Given the description of an element on the screen output the (x, y) to click on. 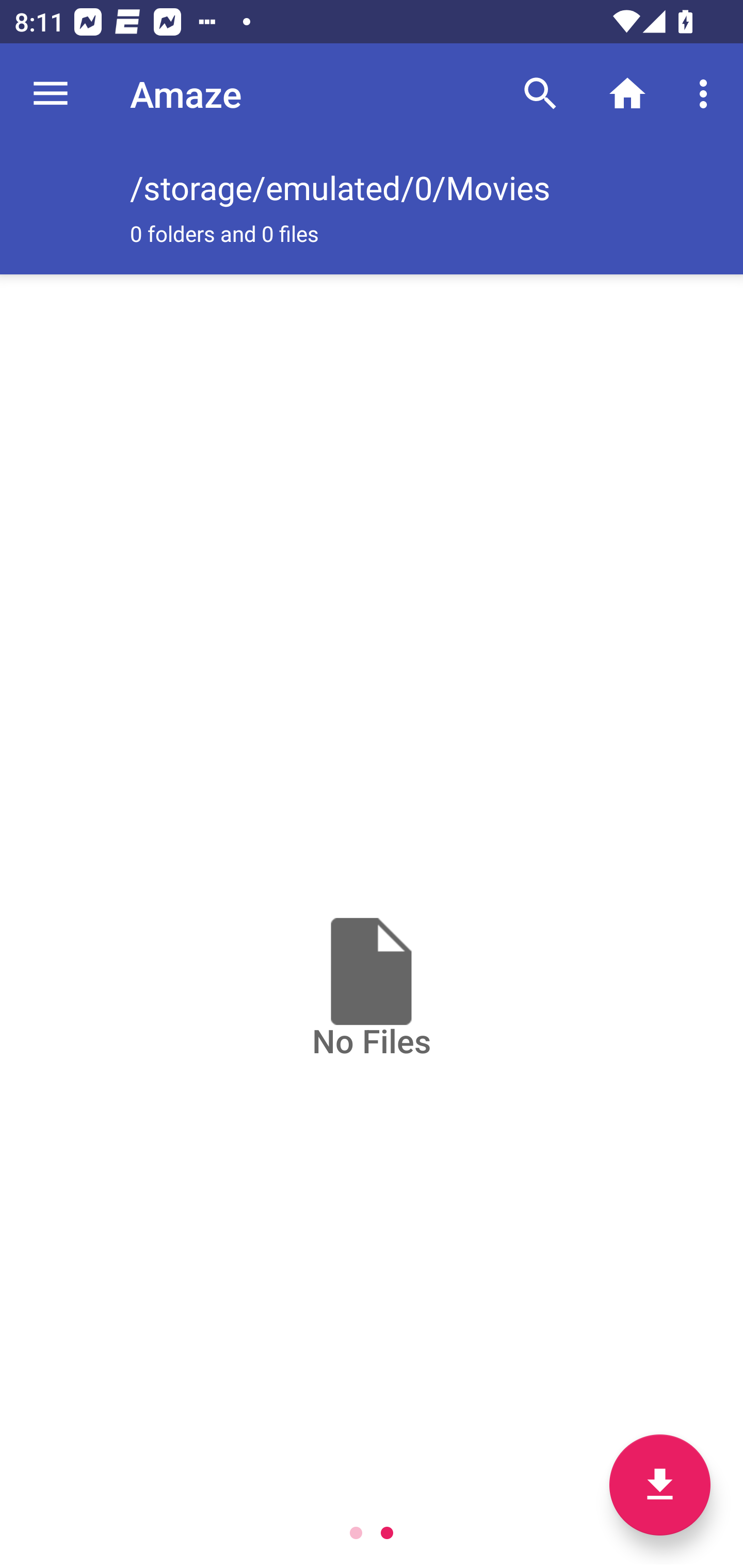
Navigate up (50, 93)
Search (540, 93)
Home (626, 93)
More options (706, 93)
